Given the description of an element on the screen output the (x, y) to click on. 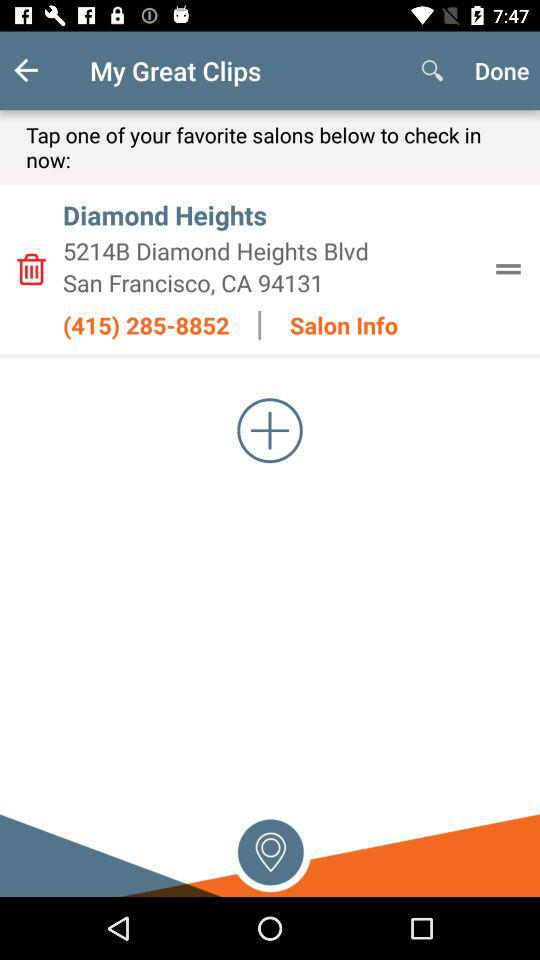
location (270, 850)
